Given the description of an element on the screen output the (x, y) to click on. 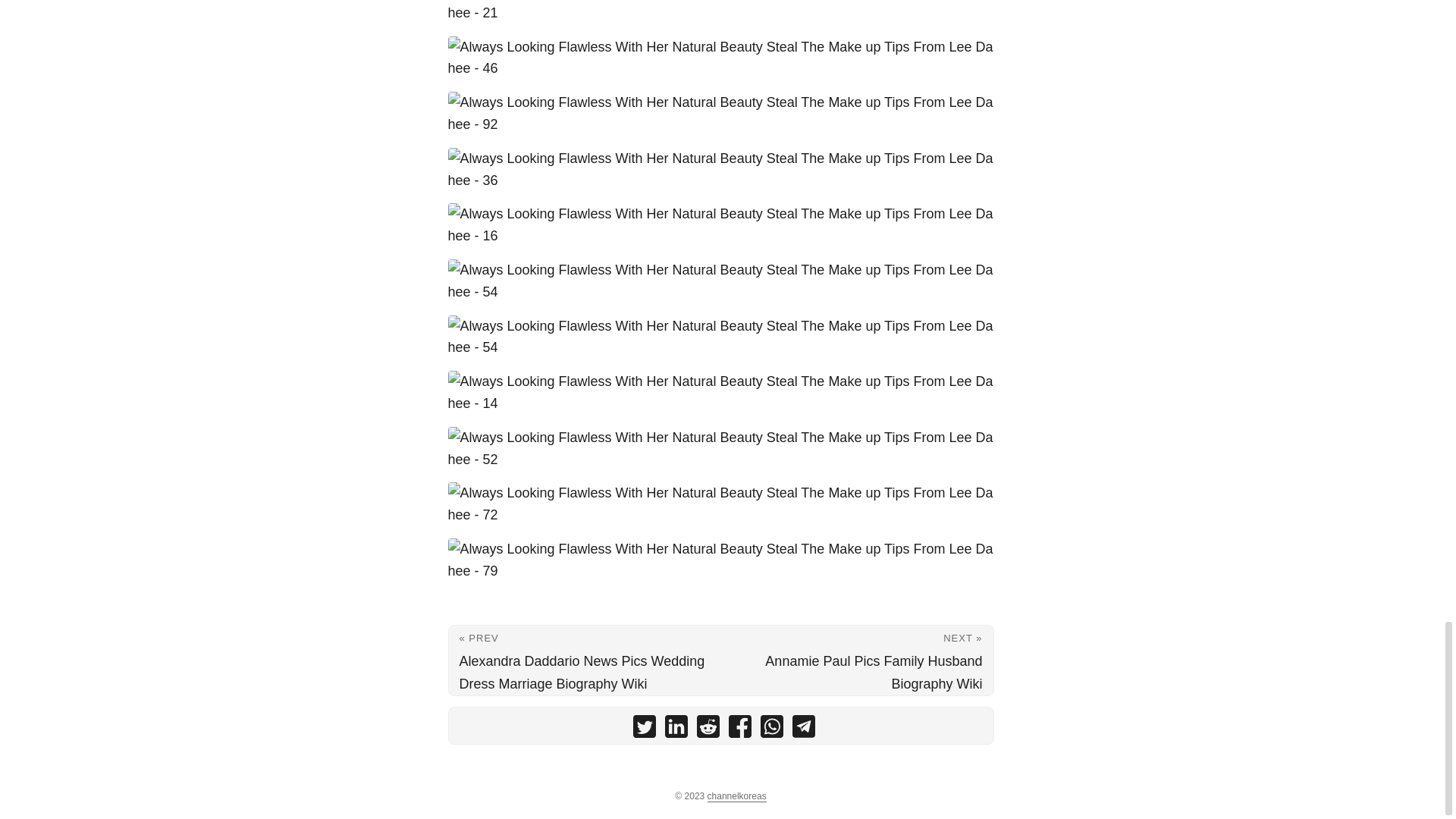
channelkoreas (737, 796)
